Given the description of an element on the screen output the (x, y) to click on. 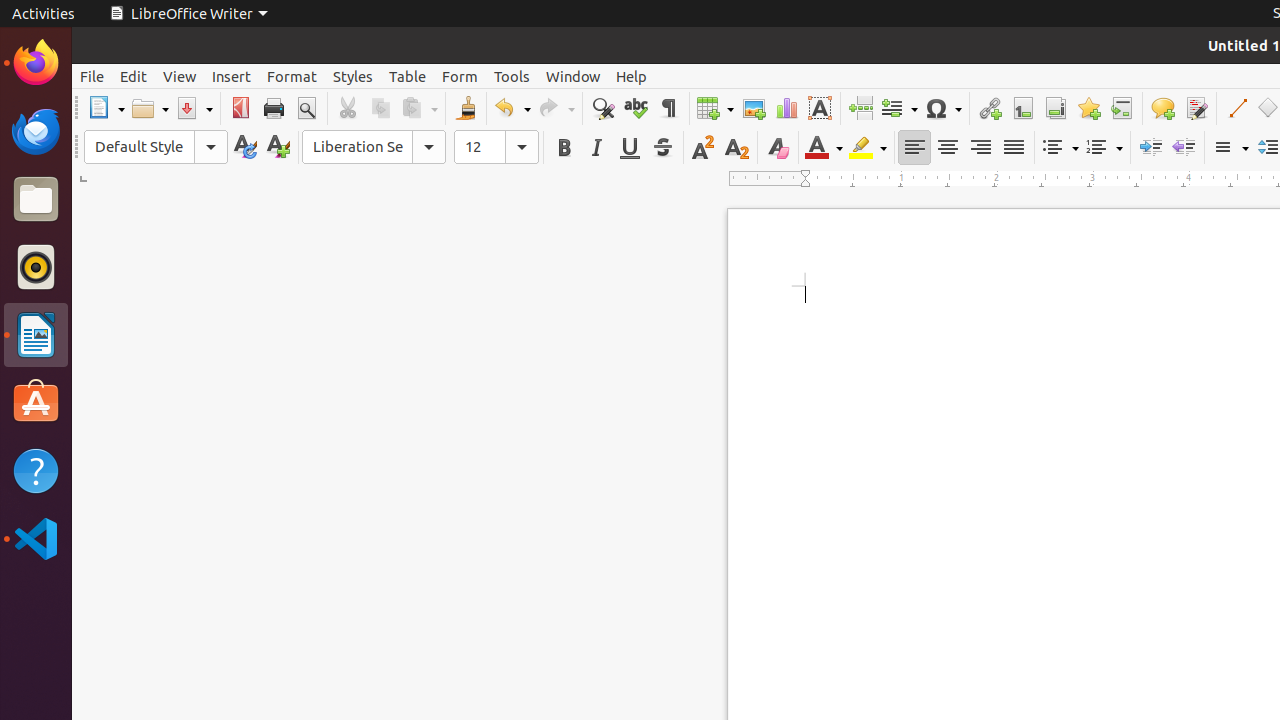
Redo Element type: push-button (556, 108)
Bookmark Element type: push-button (1088, 108)
Find & Replace Element type: toggle-button (602, 108)
Left Element type: toggle-button (914, 147)
Comment Element type: push-button (1162, 108)
